Given the description of an element on the screen output the (x, y) to click on. 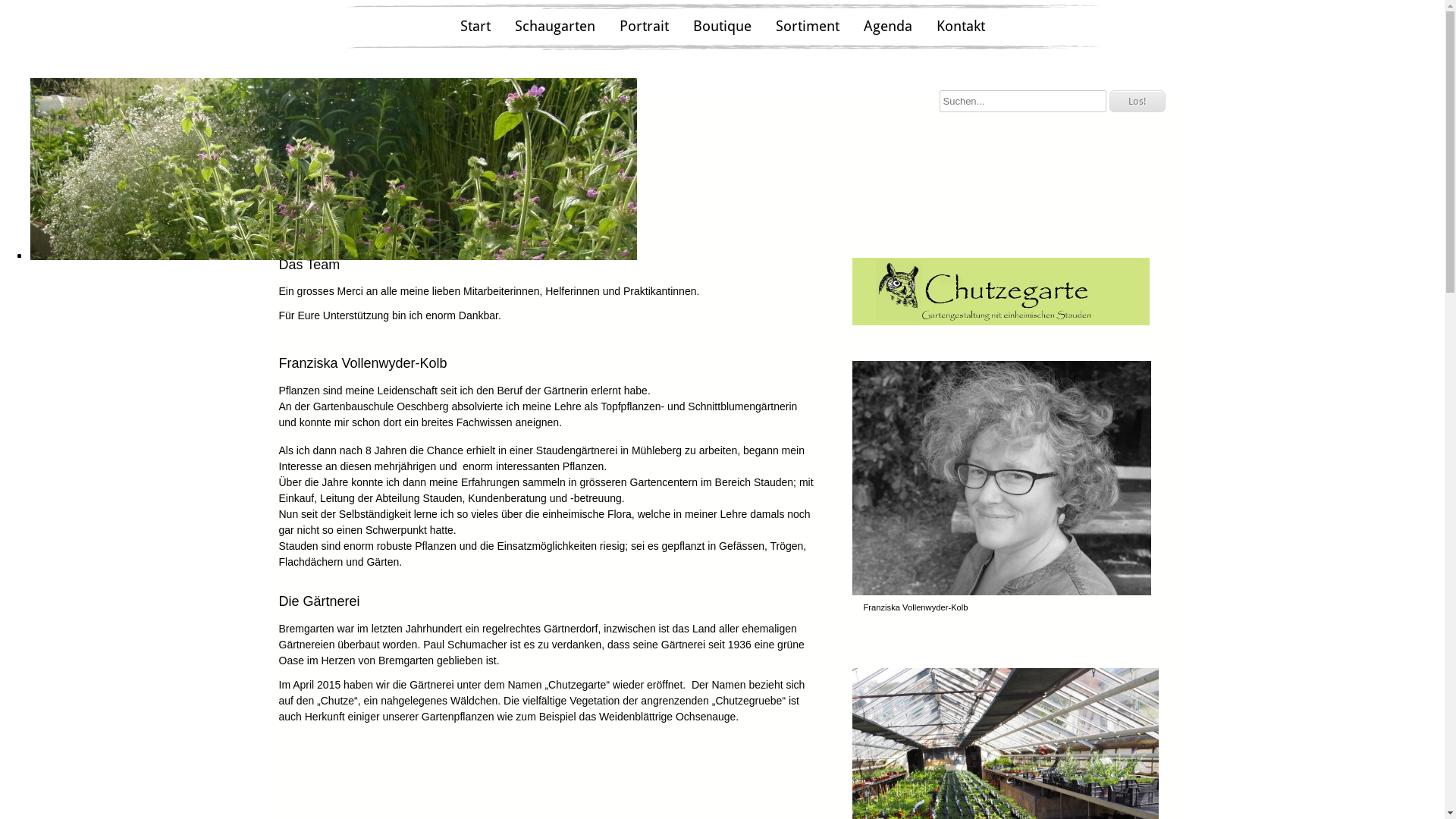
. Element type: text (298, 206)
Start Element type: text (474, 26)
Philosophie Element type: text (319, 180)
Agenda Element type: text (886, 26)
Kontakt Element type: text (959, 26)
Sortiment Element type: text (806, 26)
Schaugarten Element type: text (554, 26)
Boutique Element type: text (721, 26)
Links Element type: text (306, 193)
Los! Element type: text (1136, 101)
Portrait Element type: text (643, 26)
